Given the description of an element on the screen output the (x, y) to click on. 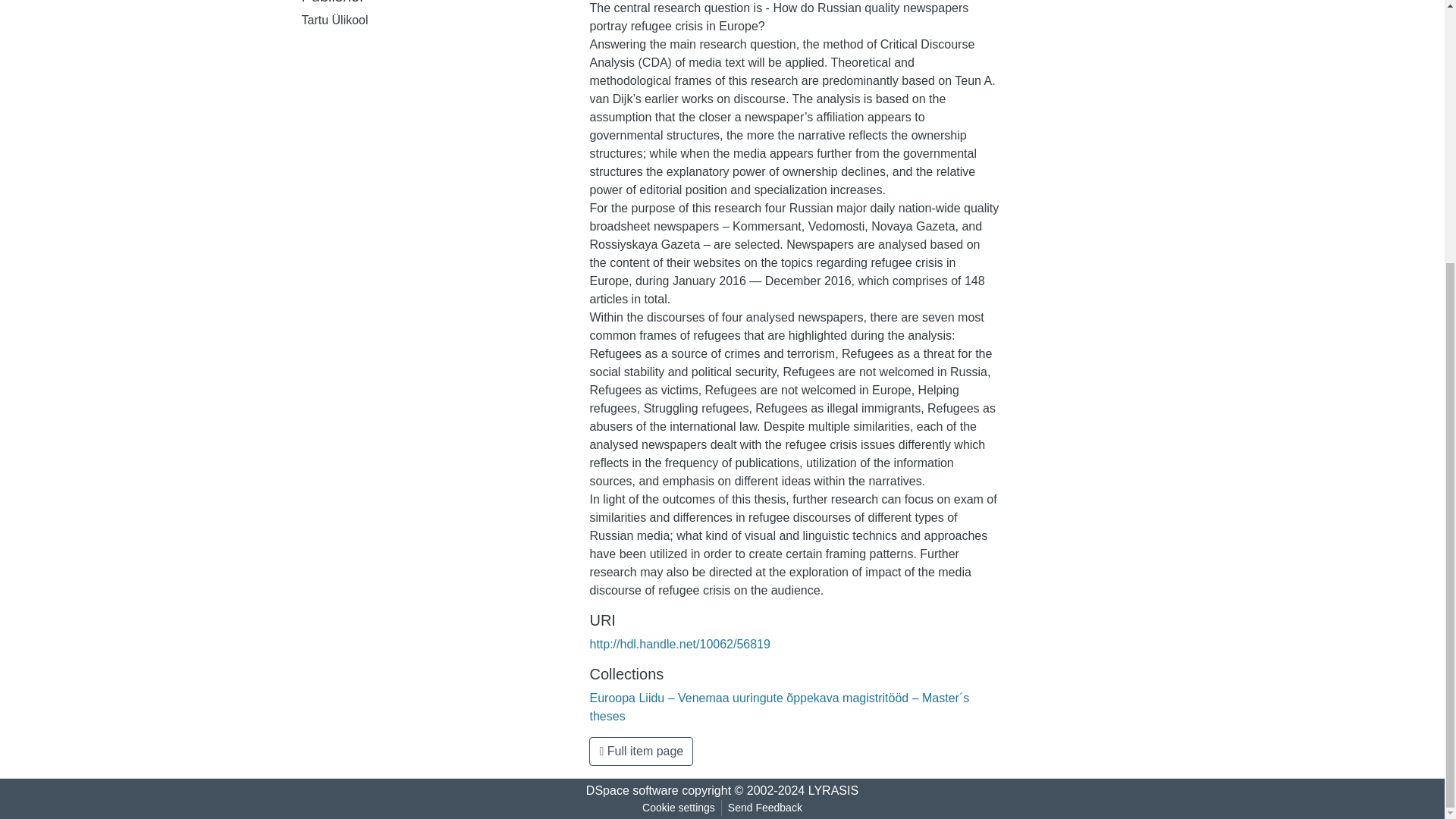
Send Feedback (765, 807)
Cookie settings (678, 807)
Full item page (641, 751)
LYRASIS (833, 789)
DSpace software (632, 789)
